Given the description of an element on the screen output the (x, y) to click on. 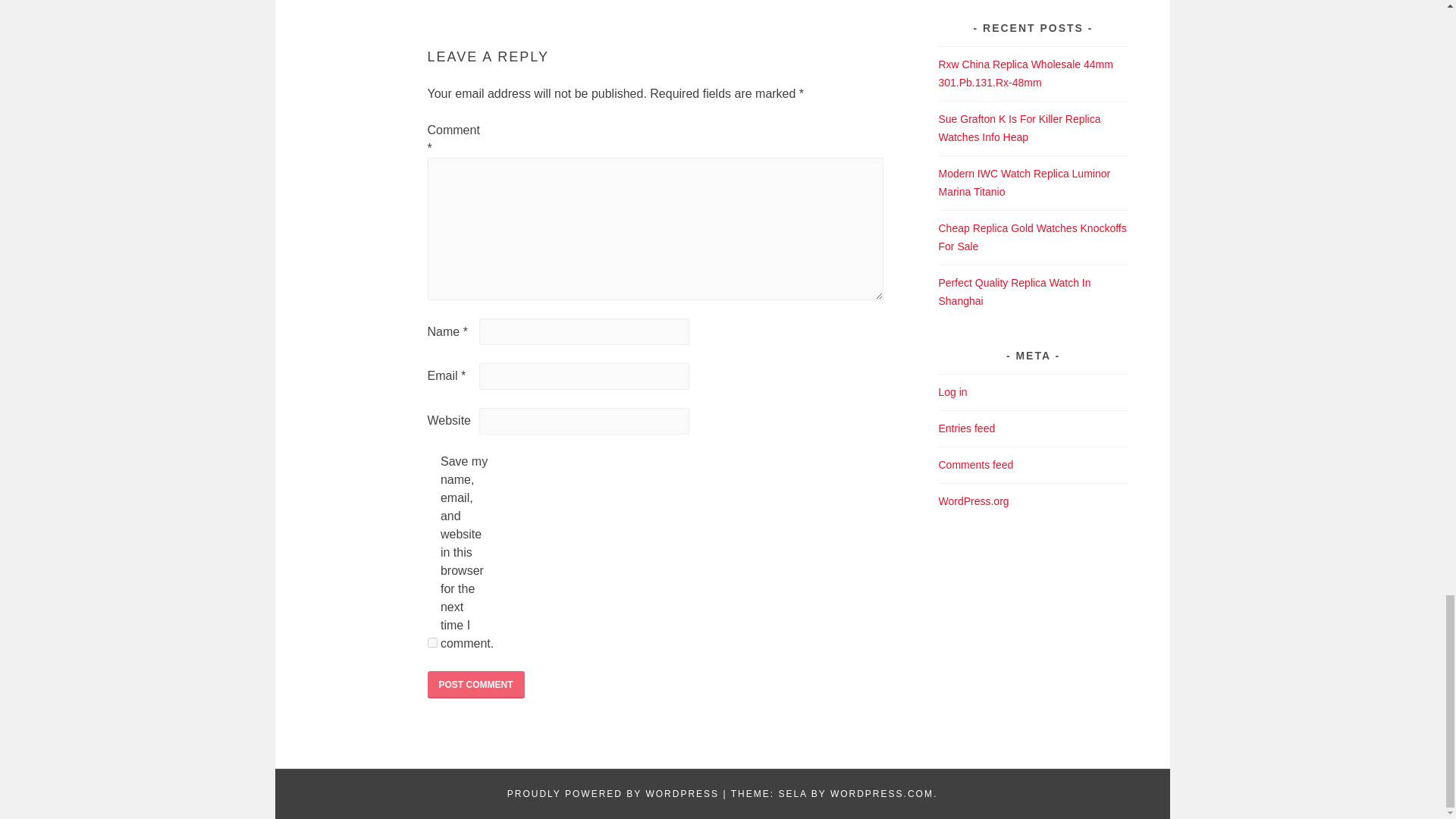
Post Comment (476, 684)
yes (433, 642)
Post Comment (476, 684)
